Given the description of an element on the screen output the (x, y) to click on. 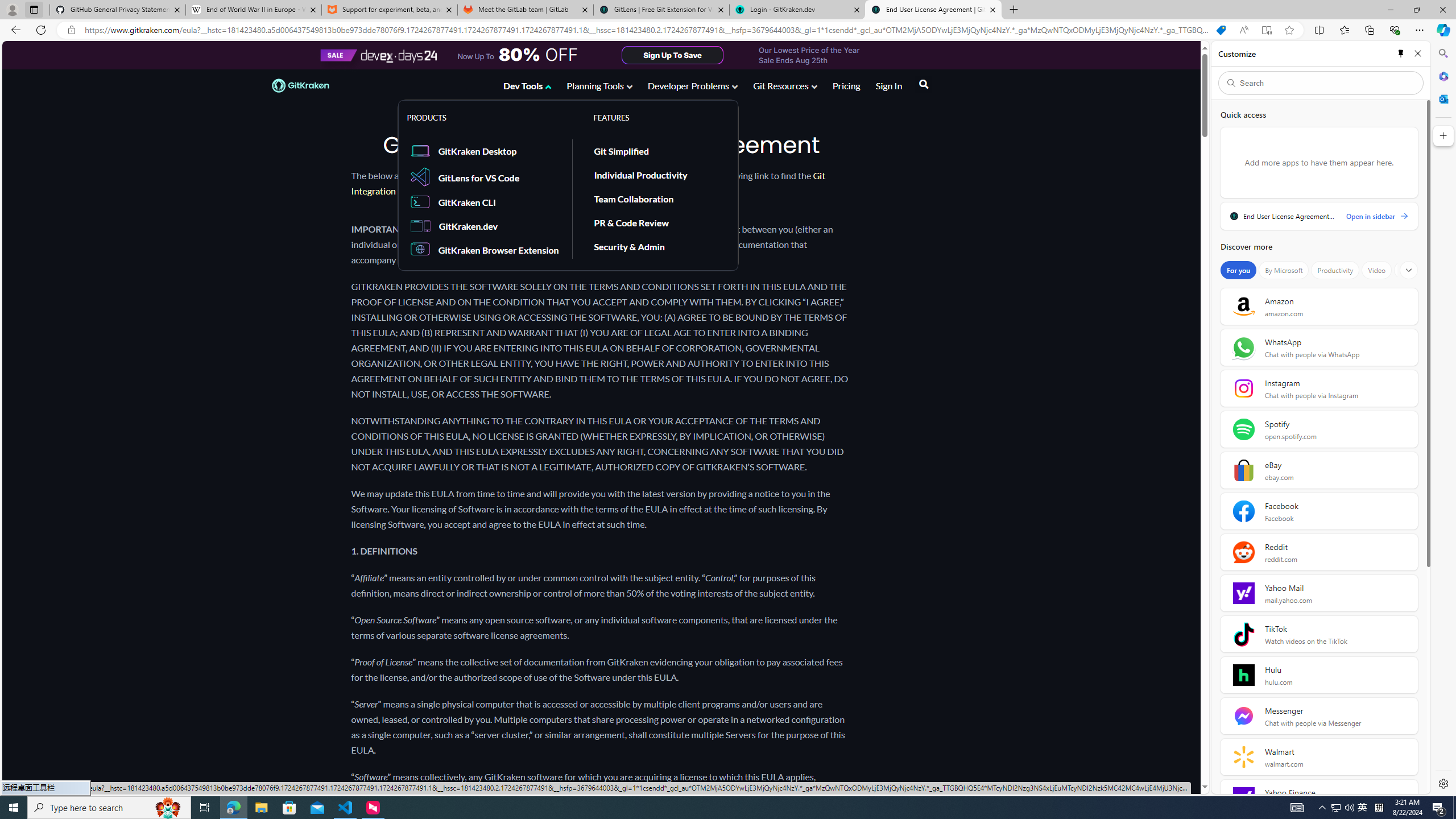
Team Collaboration (634, 197)
